Given the description of an element on the screen output the (x, y) to click on. 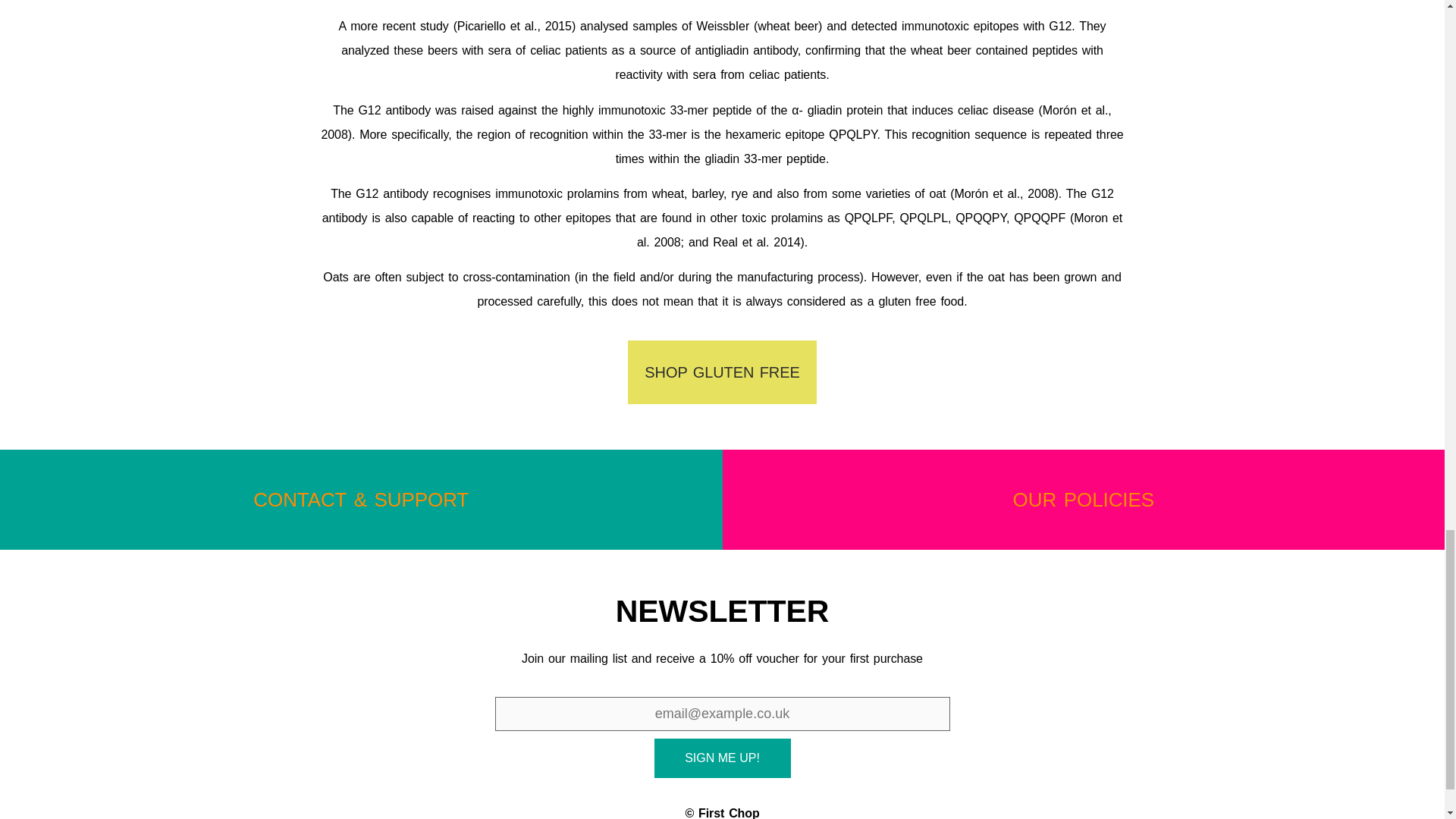
OUR POLICIES (1083, 499)
Sign Me Up! (721, 758)
SHOP GLUTEN FREE (721, 372)
Sign Me Up! (721, 758)
